Given the description of an element on the screen output the (x, y) to click on. 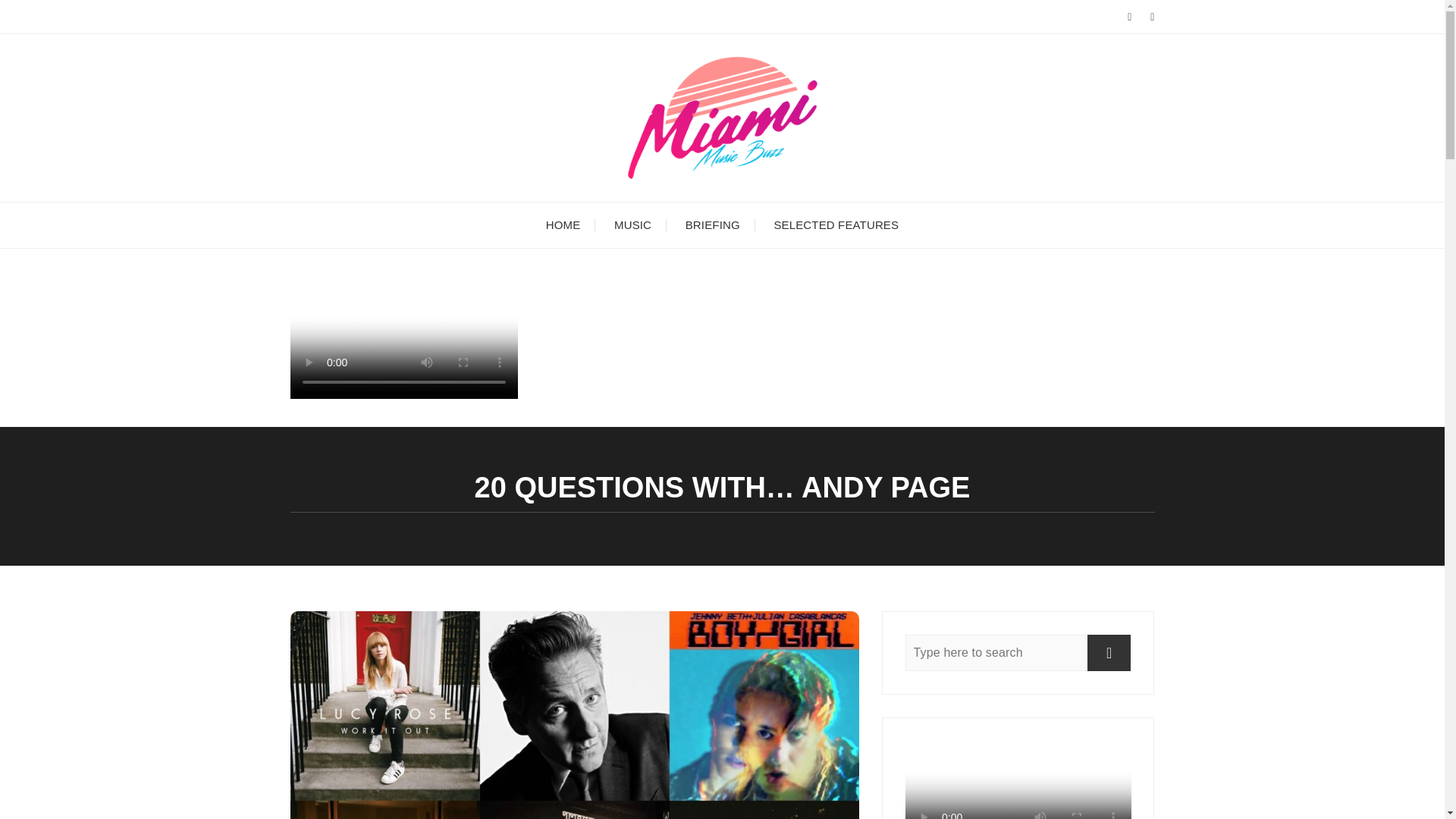
MUSIC (632, 225)
Follow on Instagram (402, 394)
SELECTED FEATURES (836, 225)
BRIEFING (712, 225)
HOME (563, 225)
